Given the description of an element on the screen output the (x, y) to click on. 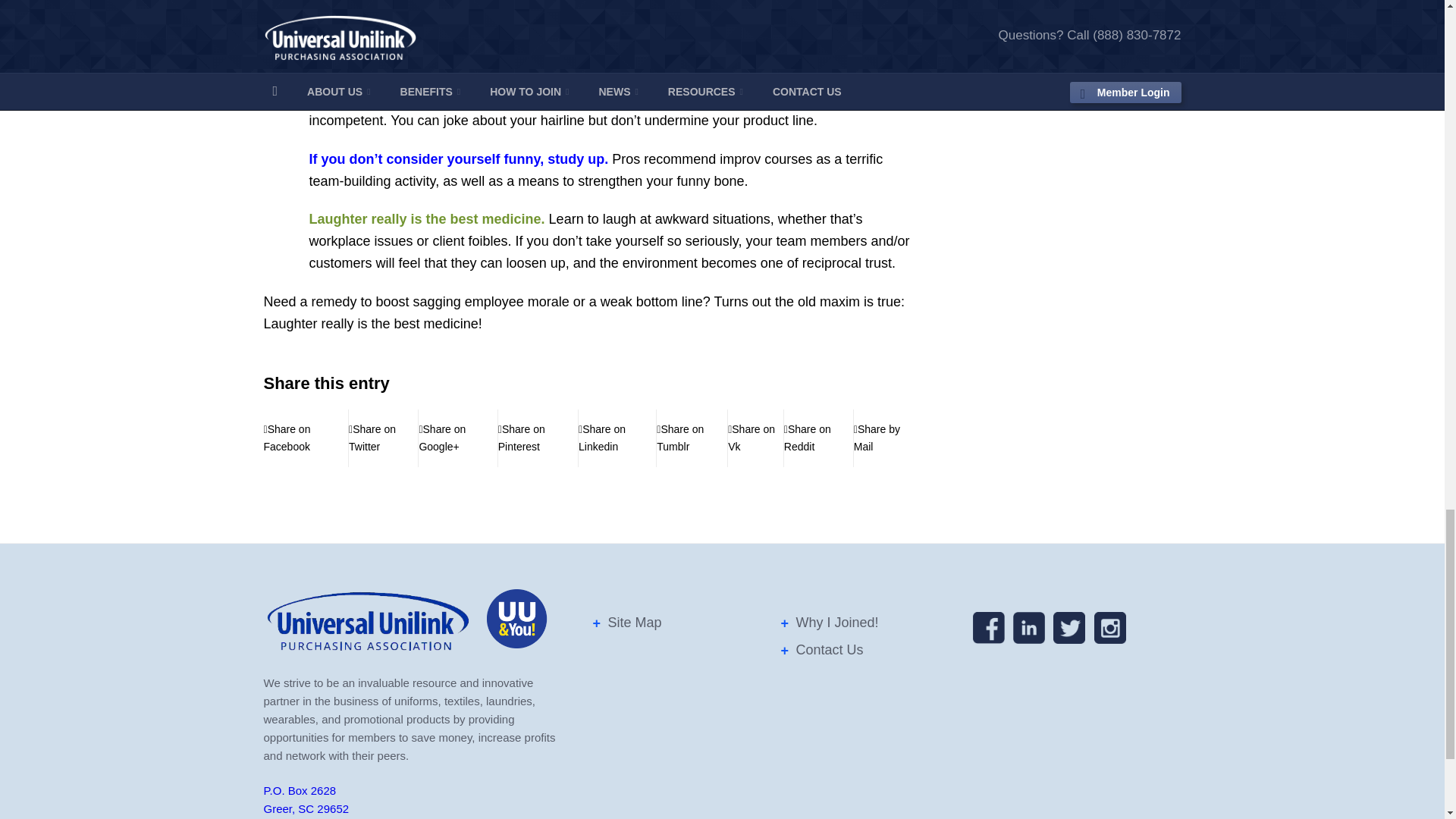
Share on Reddit (818, 437)
Share on Linkedin (617, 437)
Share on Tumblr (691, 437)
Share by Mail (883, 437)
Share on Pinterest (537, 437)
Share on Twitter (383, 437)
Share on Vk (755, 437)
Share on Facebook (306, 437)
